Given the description of an element on the screen output the (x, y) to click on. 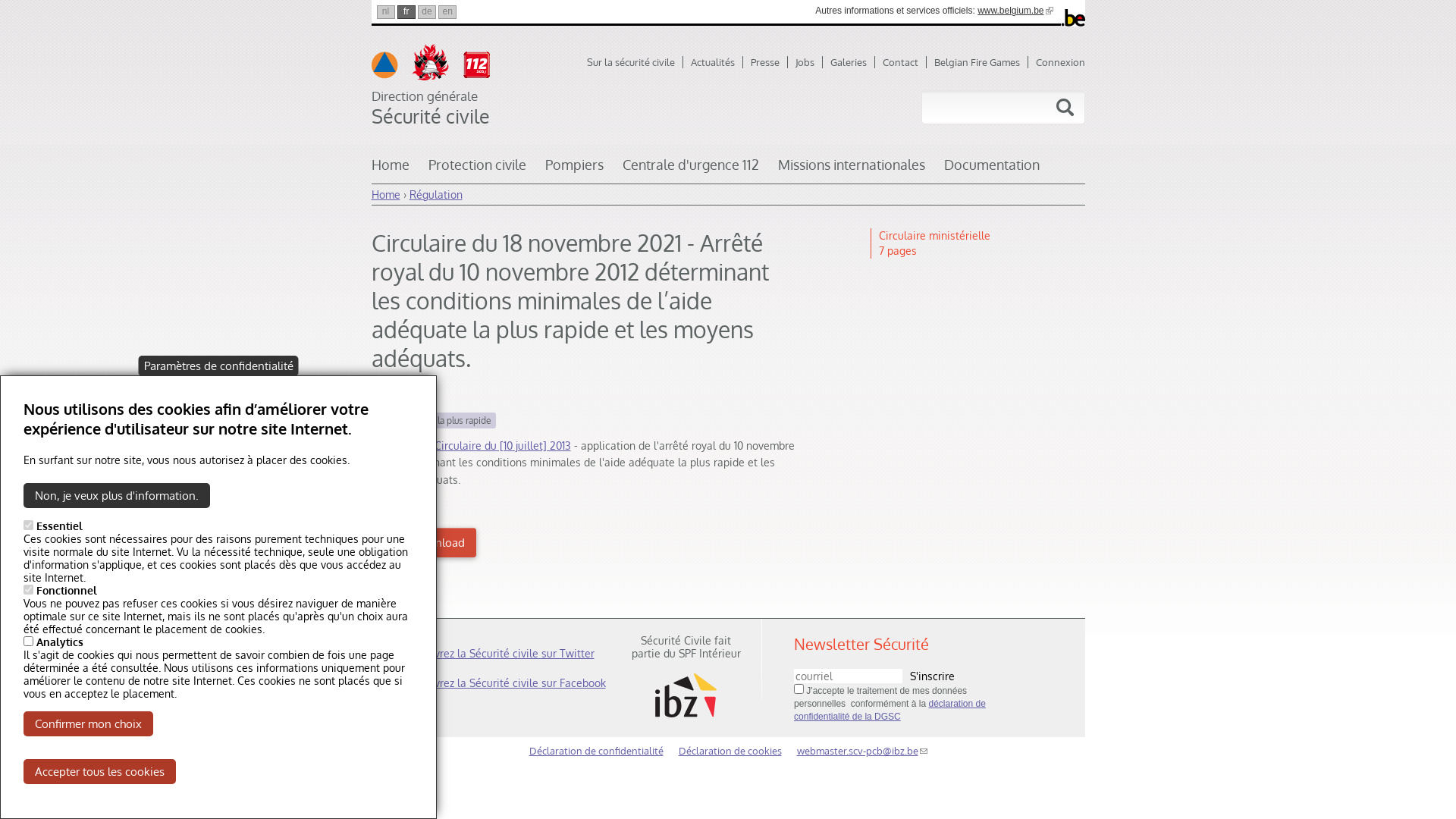
Presse Element type: text (768, 62)
Home Element type: text (390, 169)
Pompiers Element type: text (573, 169)
www.belgium.be
(link is external) Element type: text (1014, 10)
Contact Element type: text (904, 62)
Connexion Element type: text (1060, 62)
Accepter tous les cookies Element type: text (99, 771)
Belgian Fire Games Element type: text (981, 62)
S'inscrire Element type: text (932, 675)
Jobs Element type: text (808, 62)
Missions internationales Element type: text (851, 169)
de Element type: text (426, 11)
Documentation Element type: text (990, 169)
Home Element type: text (385, 194)
nl Element type: text (385, 11)
Confirmer mon choix Element type: text (88, 723)
en Element type: text (447, 11)
Protection civile Element type: text (476, 169)
Rechercher Element type: text (1065, 107)
Circulaire du [10 juillet] 2013 Element type: text (501, 445)
Saisissez les termes que vous voulez rechercher. Element type: hover (971, 107)
Centrale d'urgence 112 Element type: text (689, 169)
fr Element type: text (406, 11)
Non, je veux plus d'information. Element type: text (116, 495)
Galeries Element type: text (851, 62)
webmaster.scv-pcb@ibz.be
(link sends e-mail) Element type: text (861, 750)
Download Element type: text (427, 542)
